Given the description of an element on the screen output the (x, y) to click on. 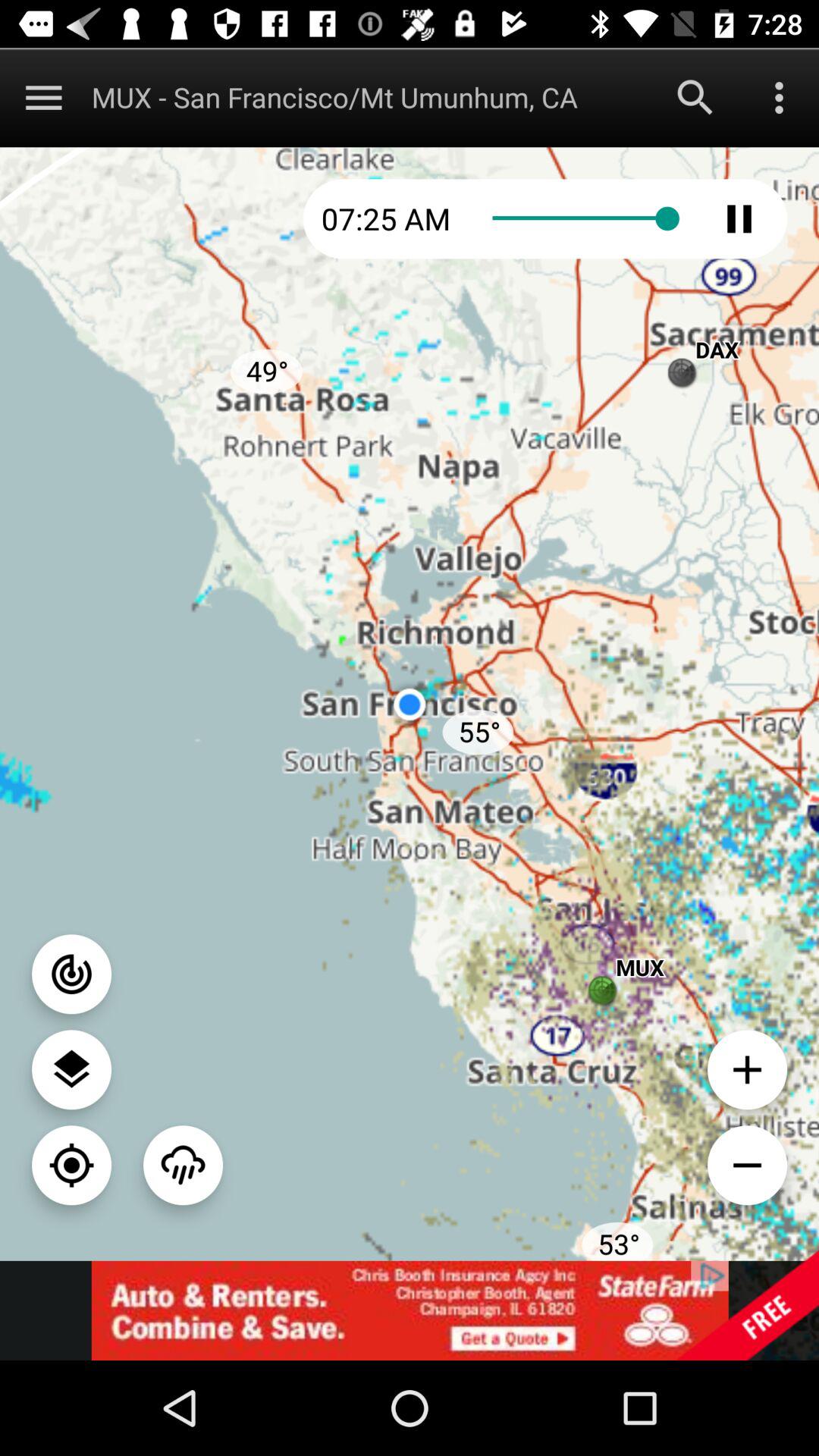
opens a list of options (779, 97)
